Given the description of an element on the screen output the (x, y) to click on. 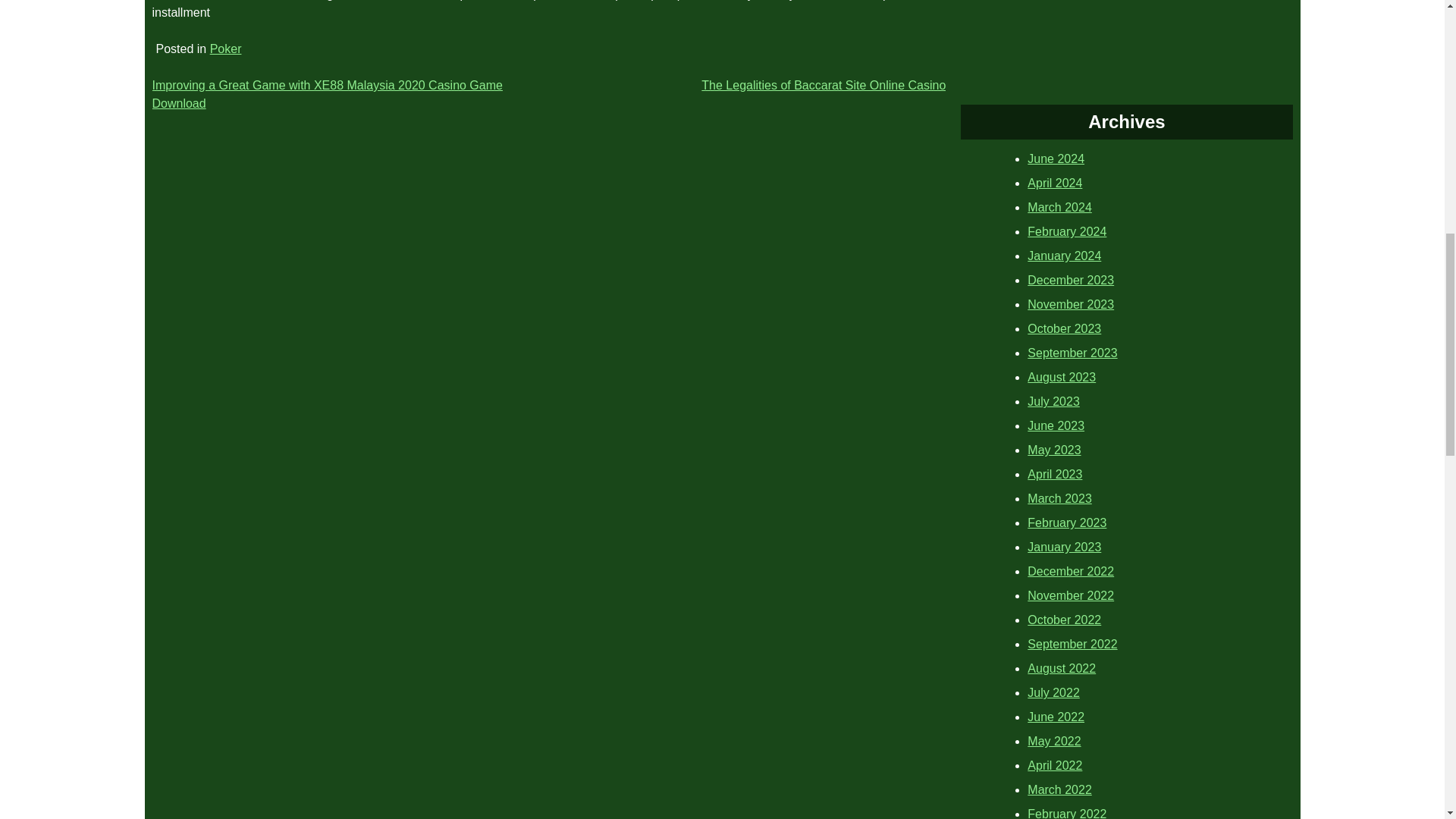
December 2022 (1070, 571)
March 2023 (1059, 498)
April 2023 (1054, 473)
November 2023 (1070, 304)
May 2023 (1053, 449)
July 2023 (1053, 400)
August 2023 (1061, 377)
December 2023 (1070, 279)
January 2024 (1063, 255)
Poker (225, 48)
August 2022 (1061, 667)
February 2023 (1066, 522)
November 2022 (1070, 594)
October 2022 (1063, 619)
